Given the description of an element on the screen output the (x, y) to click on. 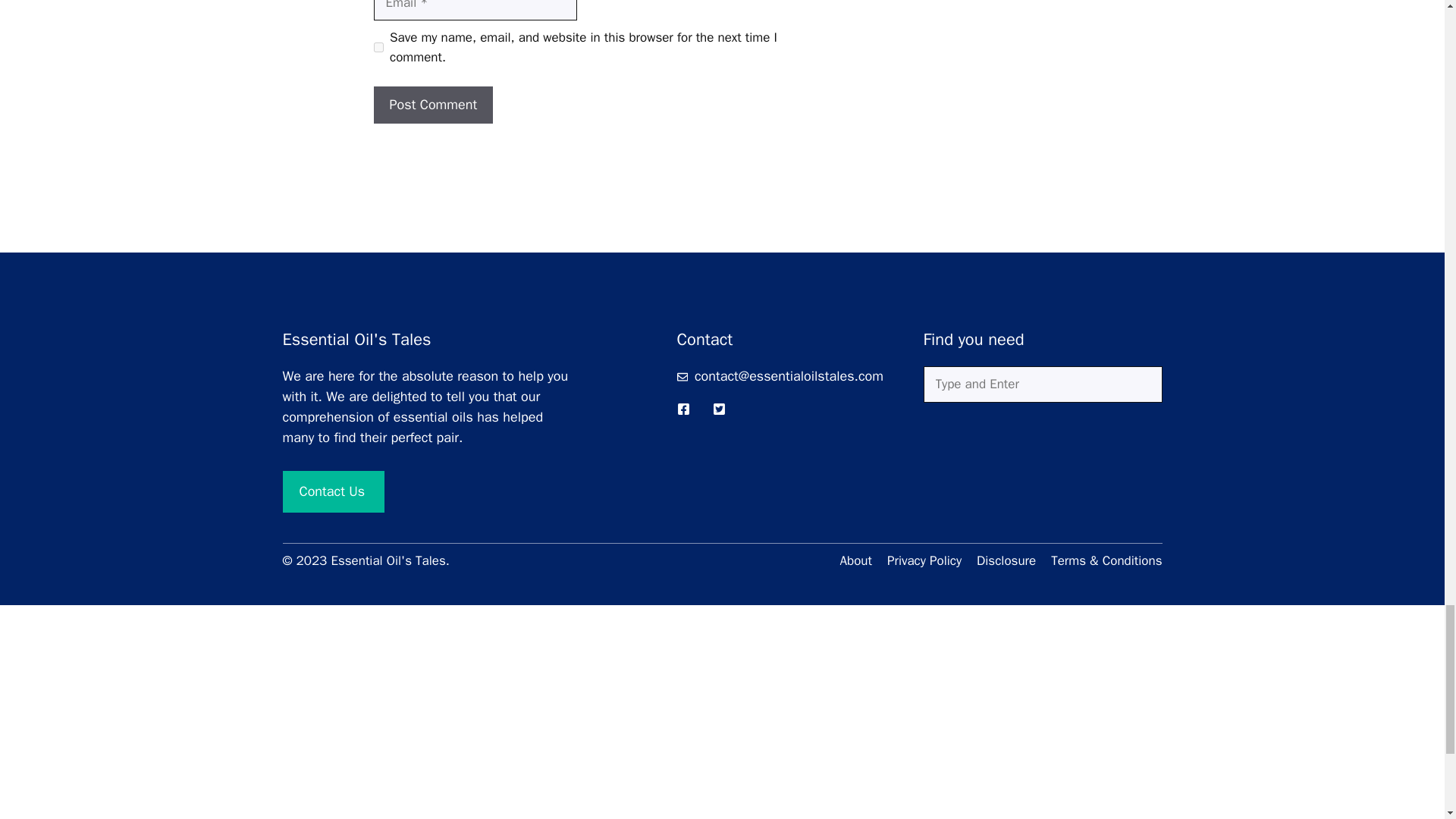
Contact Us (333, 491)
About (856, 560)
Privacy Policy (923, 560)
yes (377, 47)
Disclosure (1005, 560)
Post Comment (432, 104)
Post Comment (432, 104)
